Given the description of an element on the screen output the (x, y) to click on. 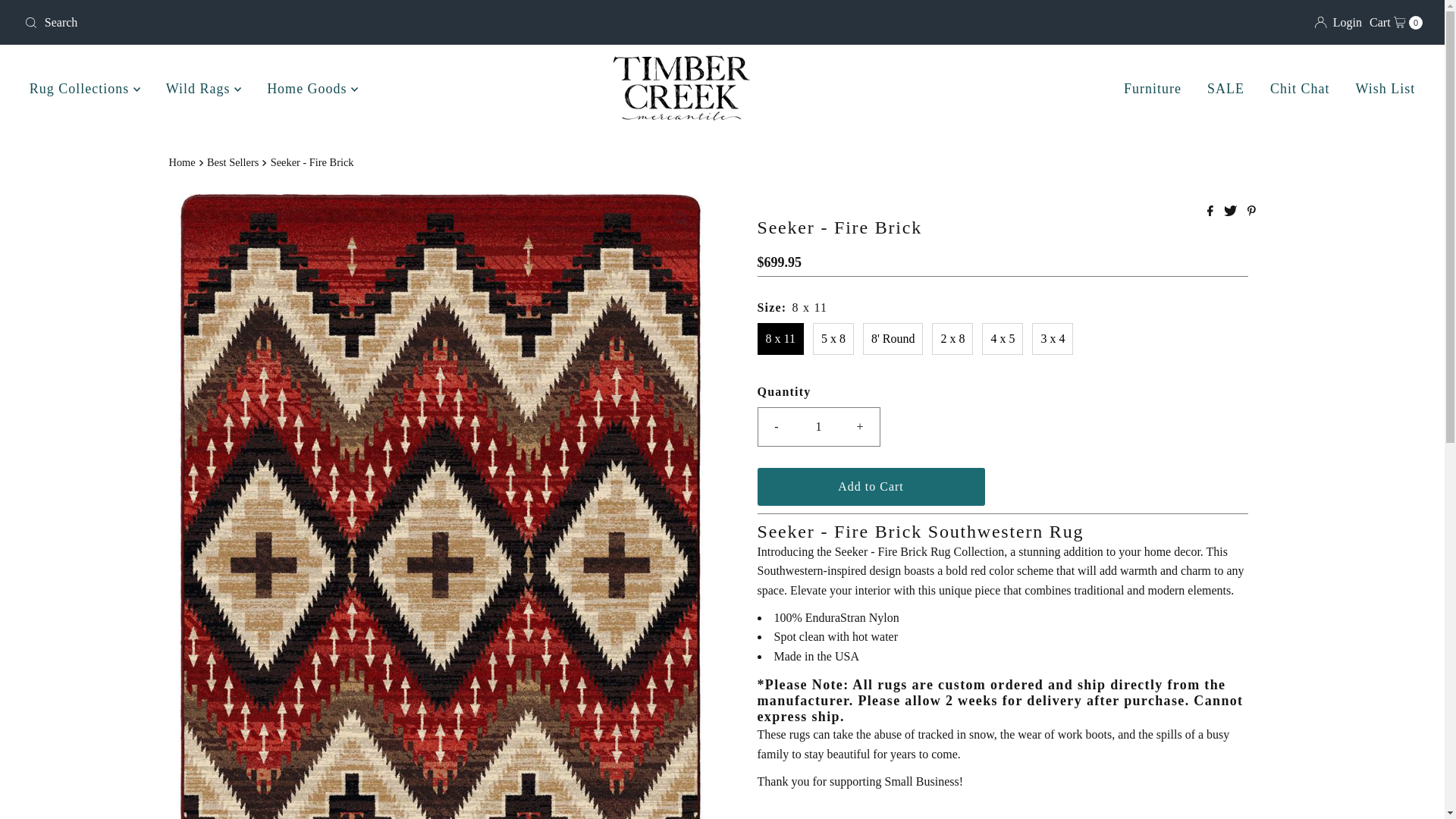
Add to Cart (870, 486)
Back to the frontpage (183, 162)
Share on Twitter (1232, 211)
Next Product (972, 818)
Back to Best Sellers (799, 818)
Search our store (248, 22)
  Login (1396, 22)
Previous Product (1337, 22)
1 (893, 818)
